Given the description of an element on the screen output the (x, y) to click on. 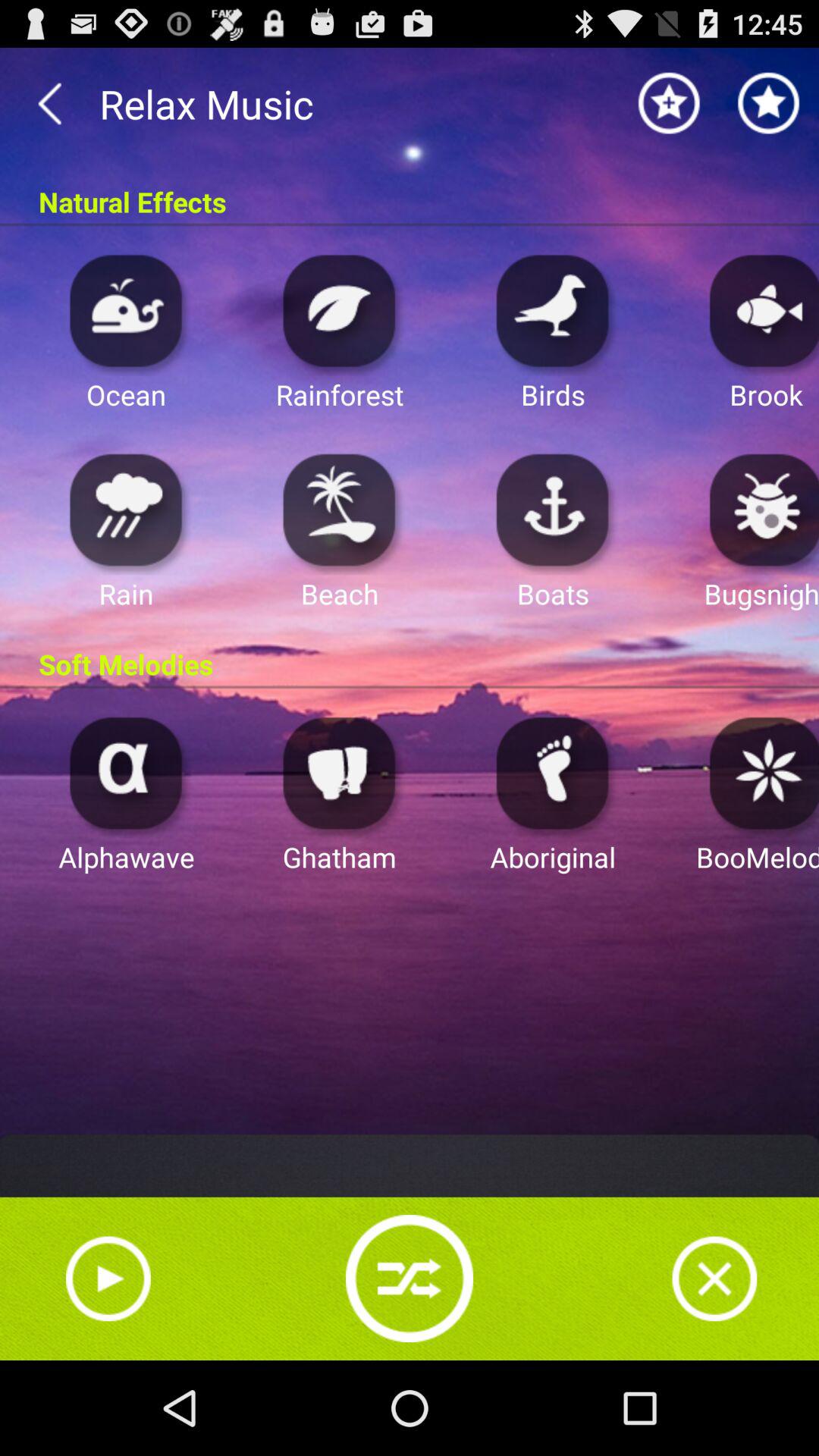
select app (759, 509)
